Given the description of an element on the screen output the (x, y) to click on. 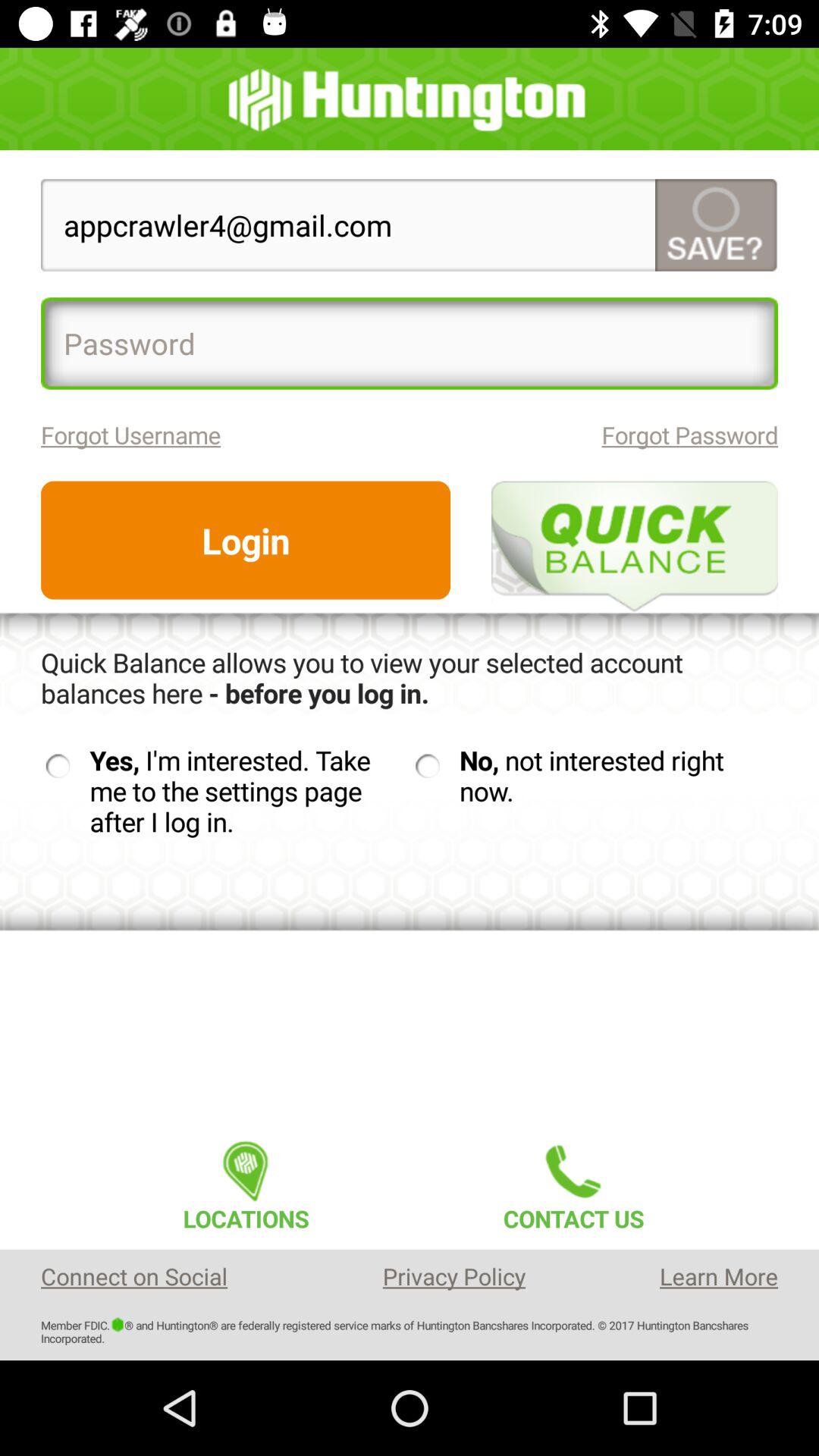
choose locations (245, 1181)
